Given the description of an element on the screen output the (x, y) to click on. 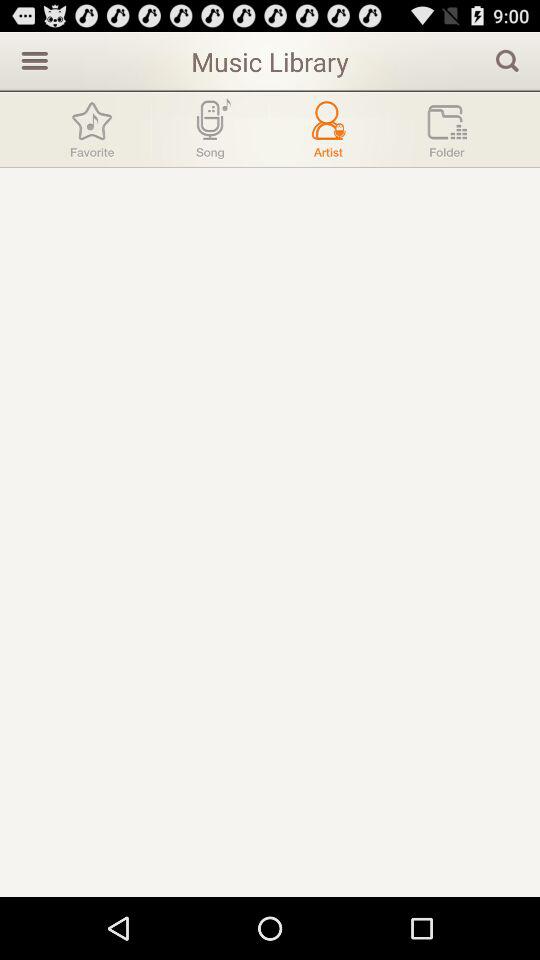
menu option (32, 60)
